Given the description of an element on the screen output the (x, y) to click on. 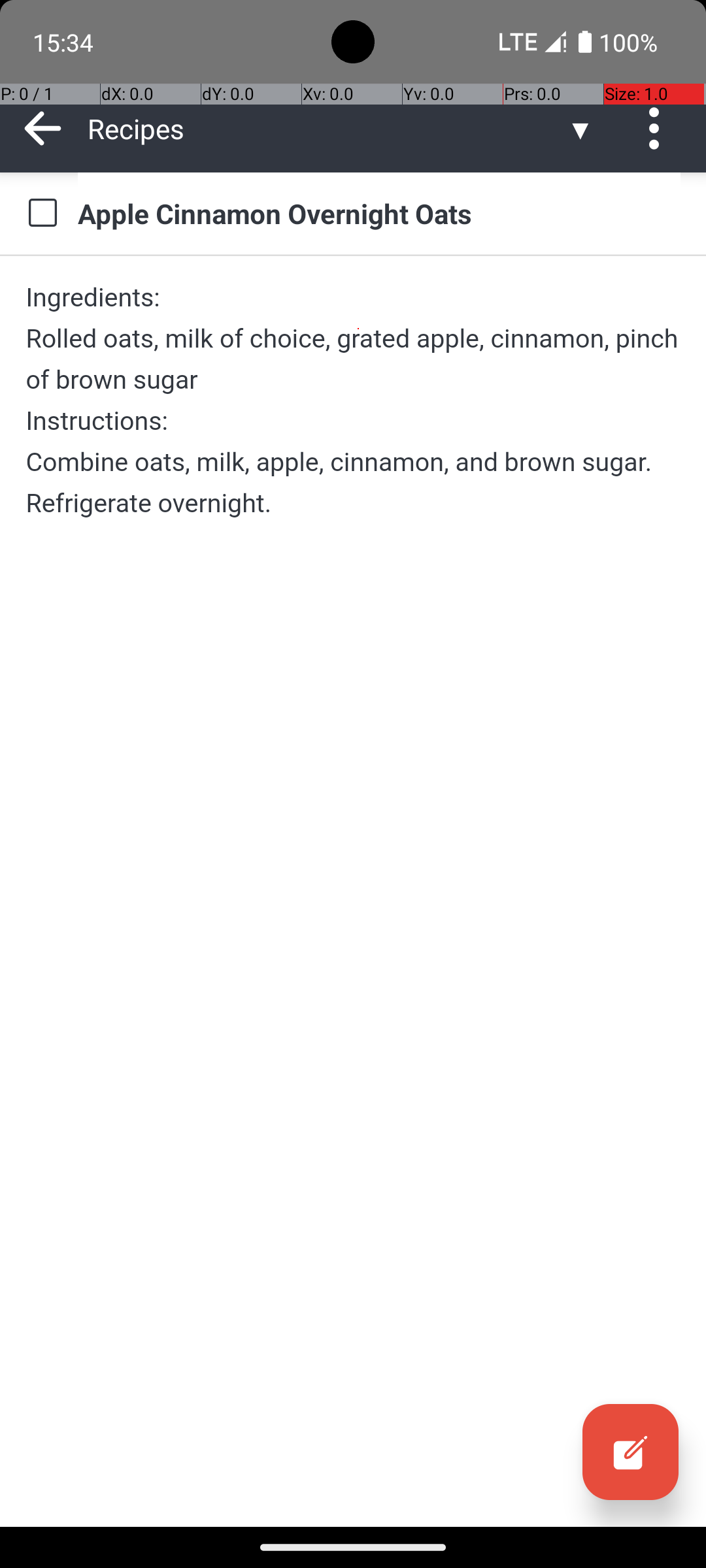
Apple Cinnamon Overnight Oats Element type: android.widget.EditText (378, 213)
Ingredients:
Rolled oats, milk of choice, grated apple, cinnamon, pinch of brown sugar
Instructions:
Combine oats, milk, apple, cinnamon, and brown sugar. Refrigerate overnight. Element type: android.widget.TextView (352, 399)
